Given the description of an element on the screen output the (x, y) to click on. 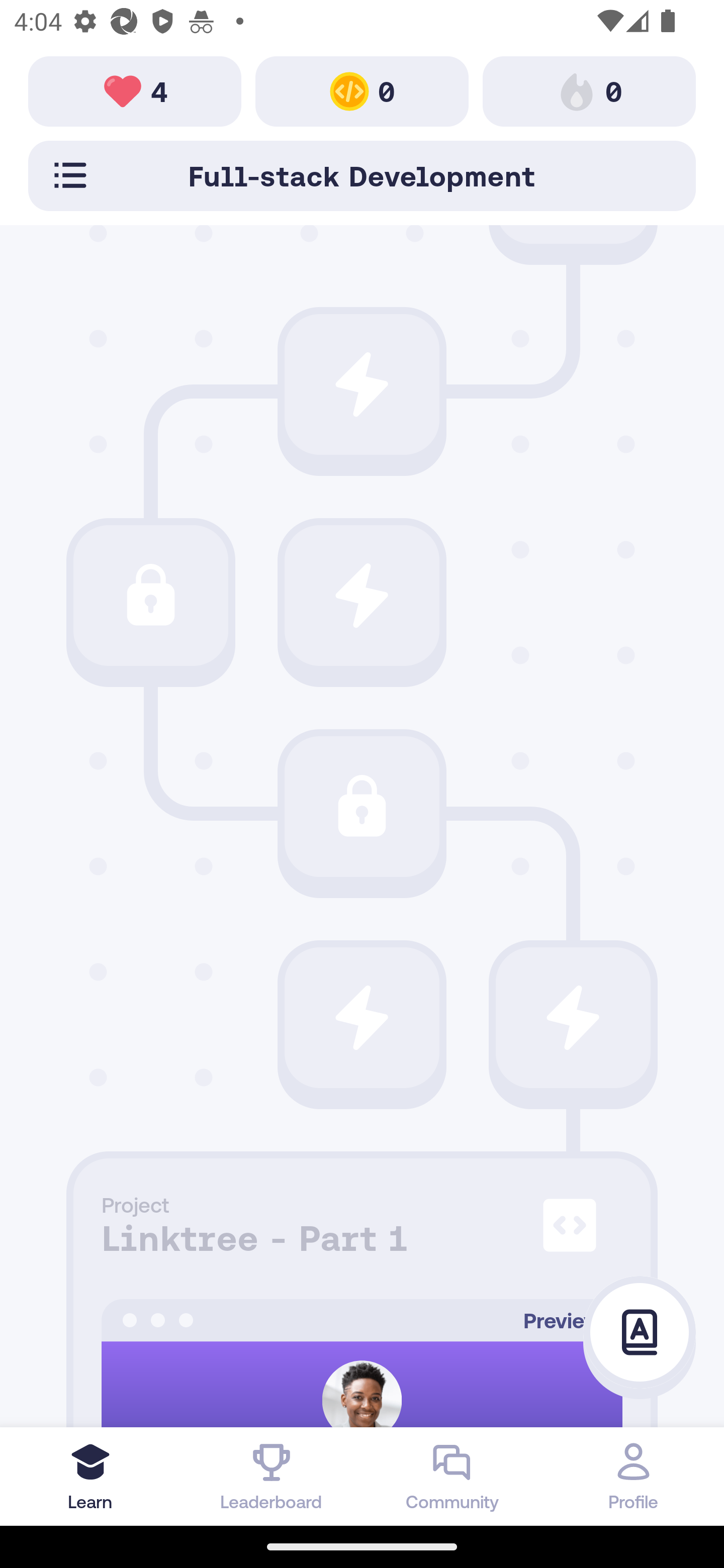
Path Toolbar Image 4 (134, 90)
Path Toolbar Image 0 (361, 90)
Path Toolbar Image 0 (588, 90)
Path Toolbar Selector Full-stack Development (361, 175)
Path Icon (361, 383)
Path Icon (150, 595)
Path Icon (361, 595)
Path Icon (361, 806)
Path Icon (361, 1017)
Path Icon (572, 1017)
Glossary Icon (639, 1332)
Leaderboard (271, 1475)
Community (452, 1475)
Profile (633, 1475)
